Given the description of an element on the screen output the (x, y) to click on. 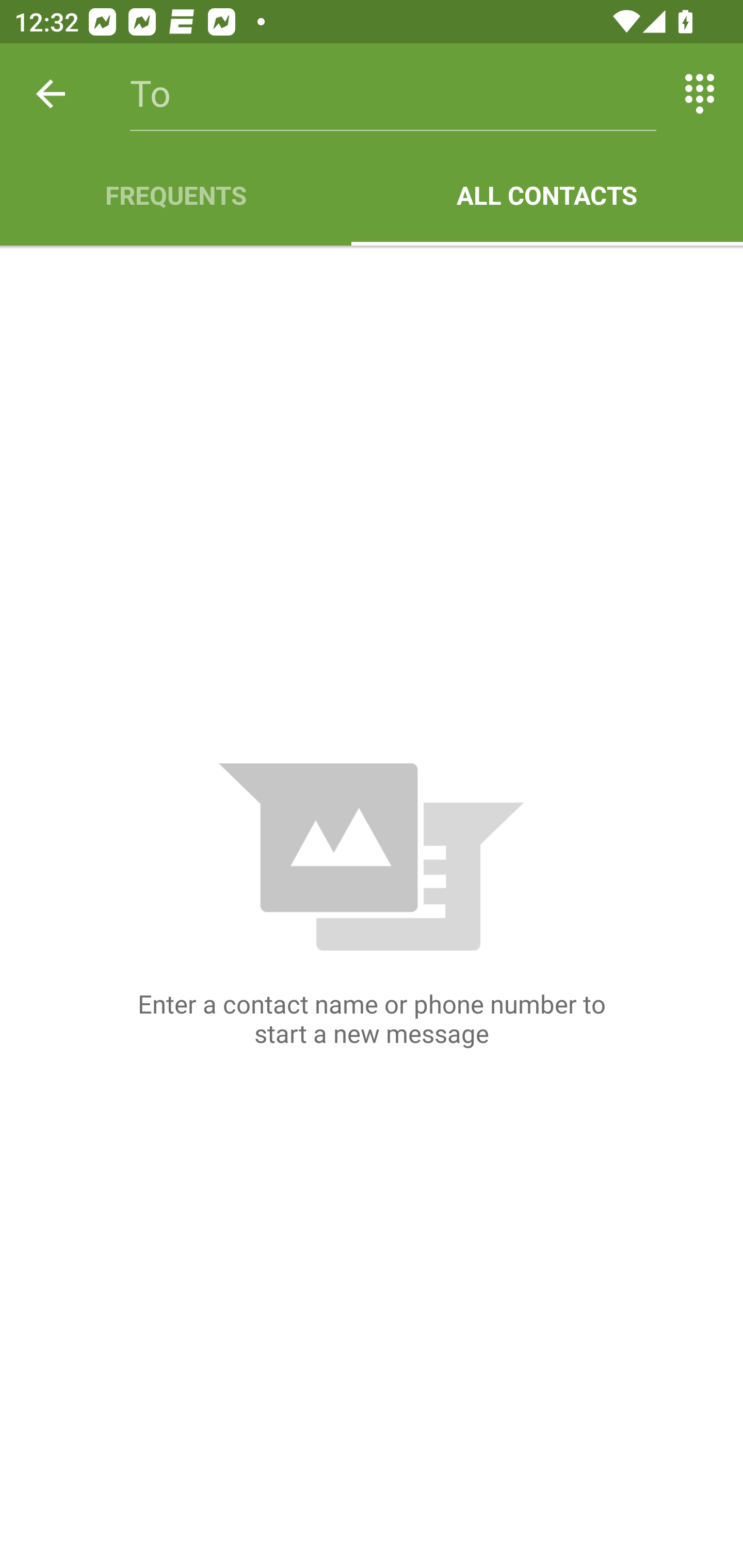
Back (50, 93)
Switch between entering text and numbers (699, 93)
To (393, 93)
FREQUENTS (175, 195)
ALL CONTACTS (547, 195)
